Given the description of an element on the screen output the (x, y) to click on. 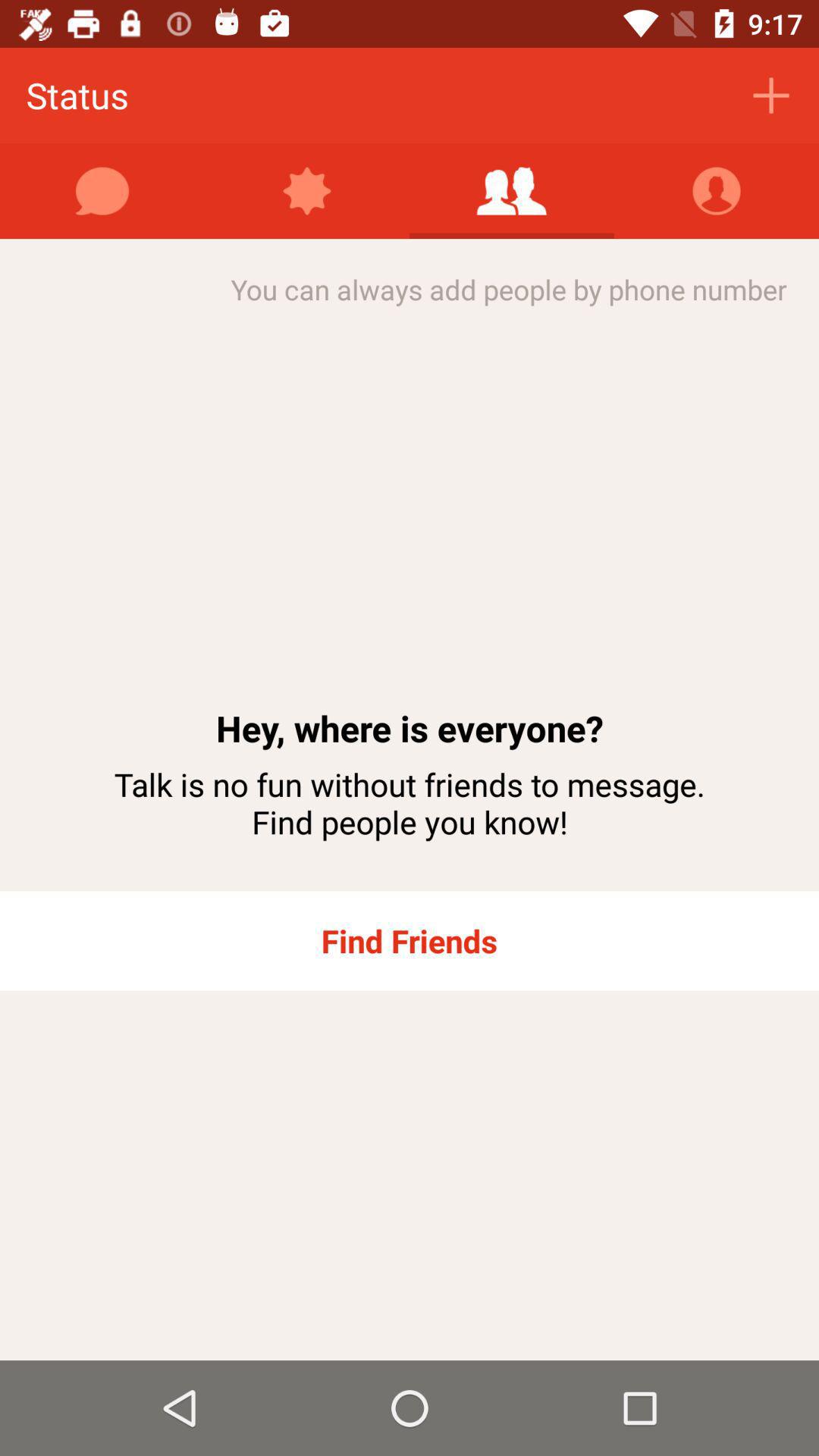
view contacts (716, 190)
